Given the description of an element on the screen output the (x, y) to click on. 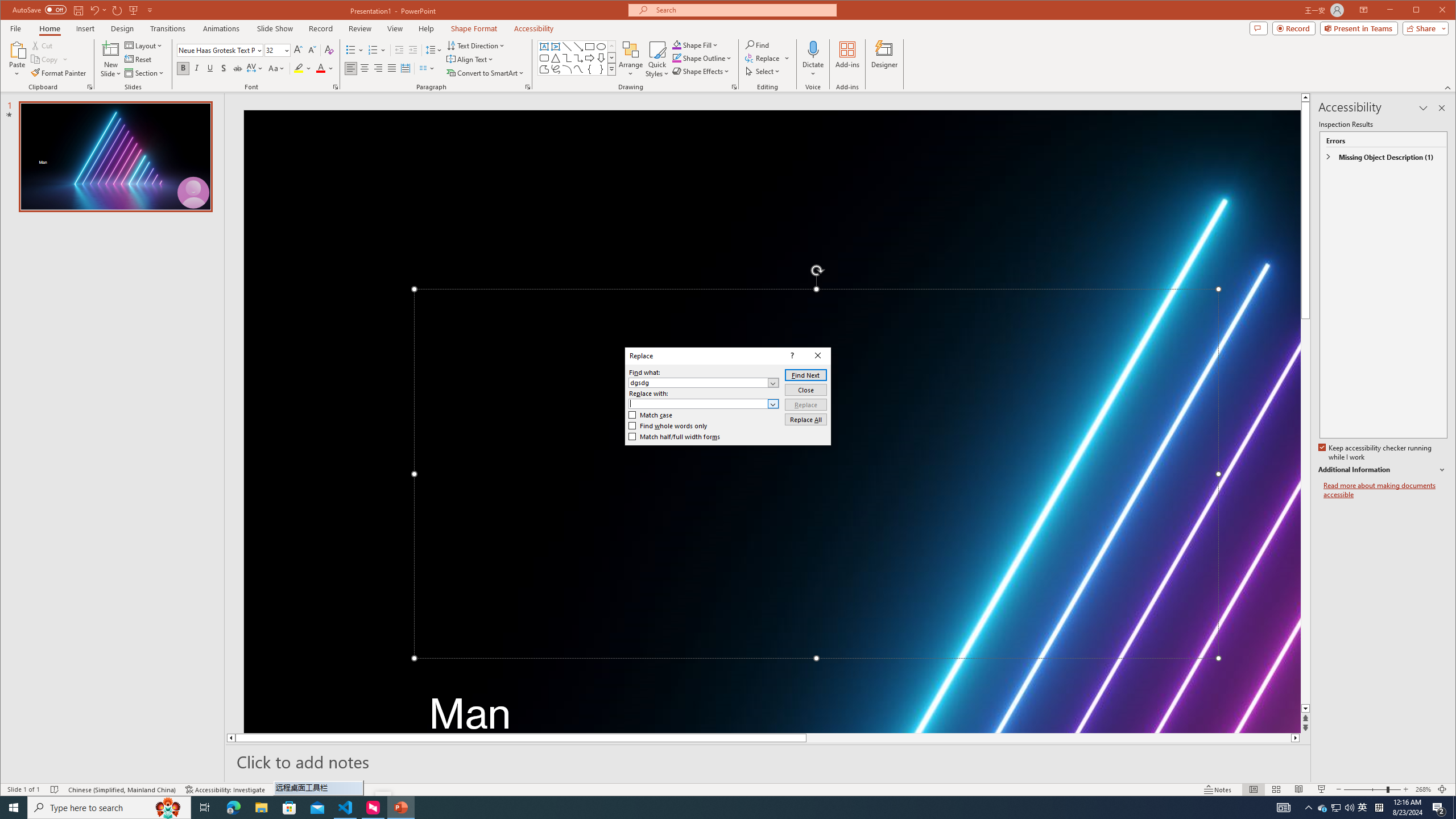
Find Next (805, 374)
Zoom 268% (1422, 789)
